Given the description of an element on the screen output the (x, y) to click on. 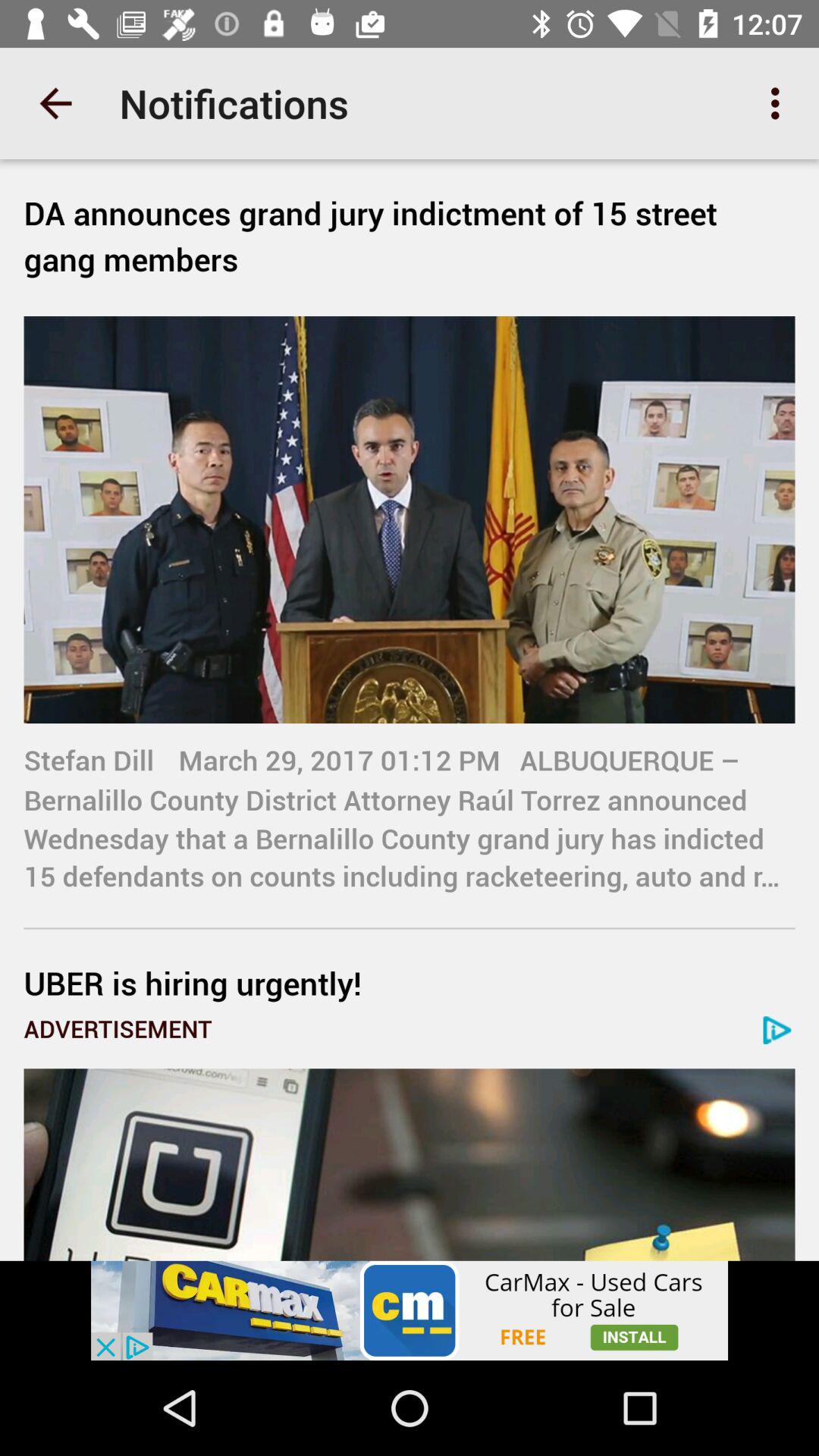
select the advertisement (409, 1310)
